Given the description of an element on the screen output the (x, y) to click on. 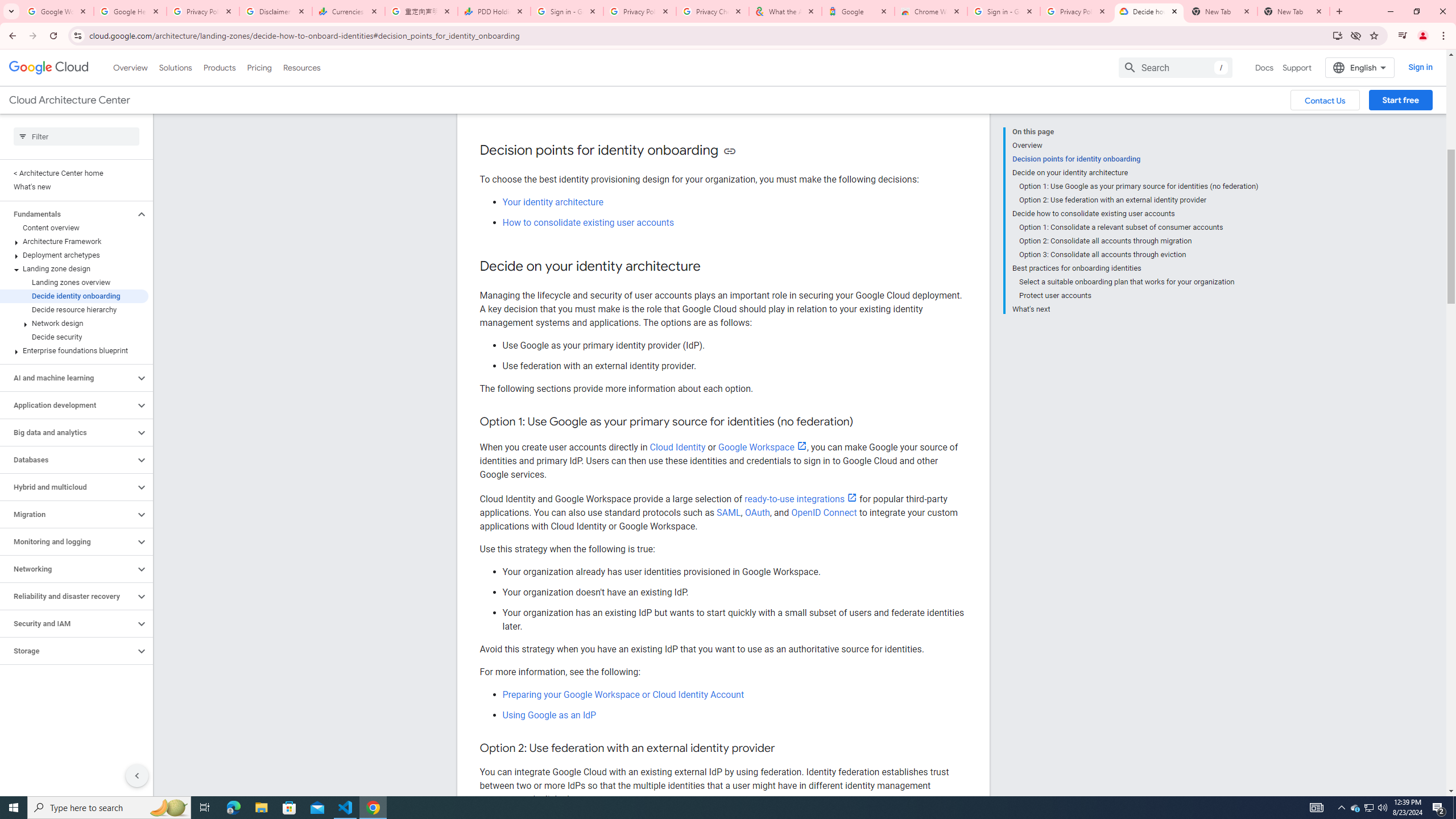
Docs, selected (1264, 67)
Products (218, 67)
Enterprise foundations blueprint (74, 350)
Sign in - Google Accounts (1003, 11)
Landing zone design (74, 269)
Sign in - Google Accounts (566, 11)
Protect user accounts (1138, 295)
Migration (67, 514)
Monitoring and logging (67, 541)
Option 2: Consolidate all accounts through migration (1138, 241)
Databases (67, 459)
